Given the description of an element on the screen output the (x, y) to click on. 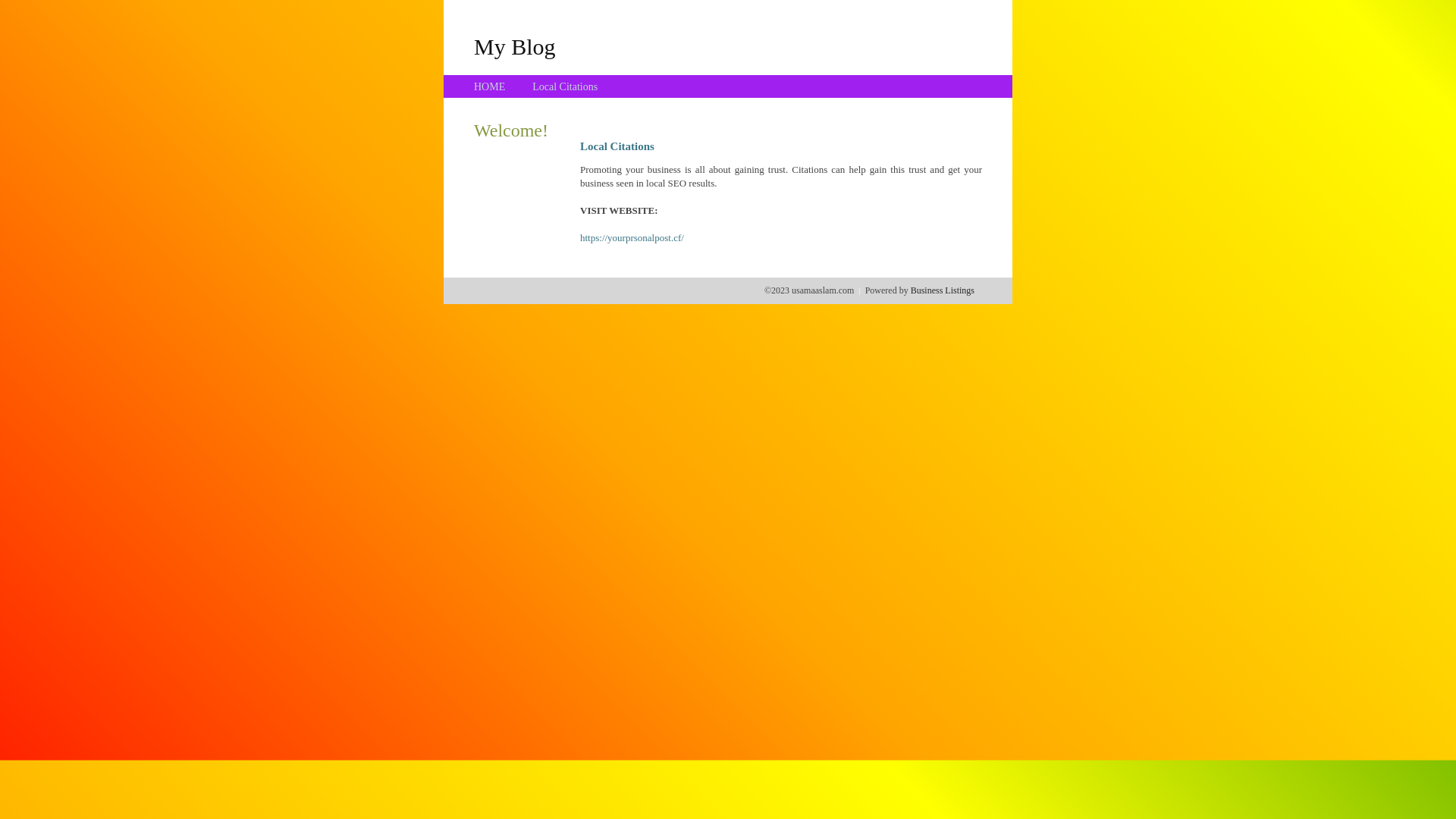
Business Listings Element type: text (942, 290)
https://yourprsonalpost.cf/ Element type: text (632, 237)
Local Citations Element type: text (564, 86)
HOME Element type: text (489, 86)
My Blog Element type: text (514, 46)
